Given the description of an element on the screen output the (x, y) to click on. 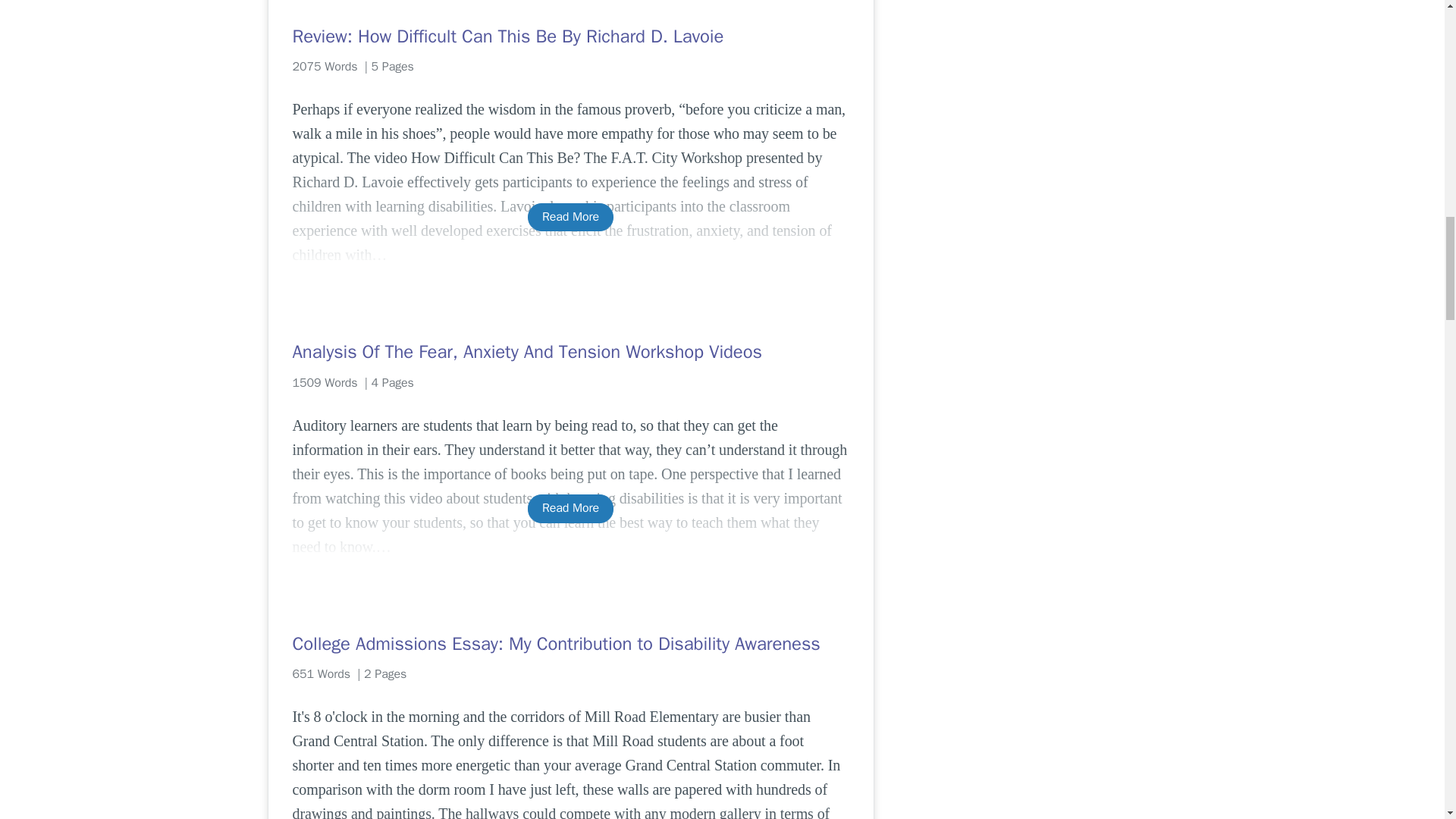
Read More (569, 216)
Review: How Difficult Can This Be By Richard D. Lavoie (570, 36)
Read More (569, 508)
Analysis Of The Fear, Anxiety And Tension Workshop Videos (570, 351)
